Given the description of an element on the screen output the (x, y) to click on. 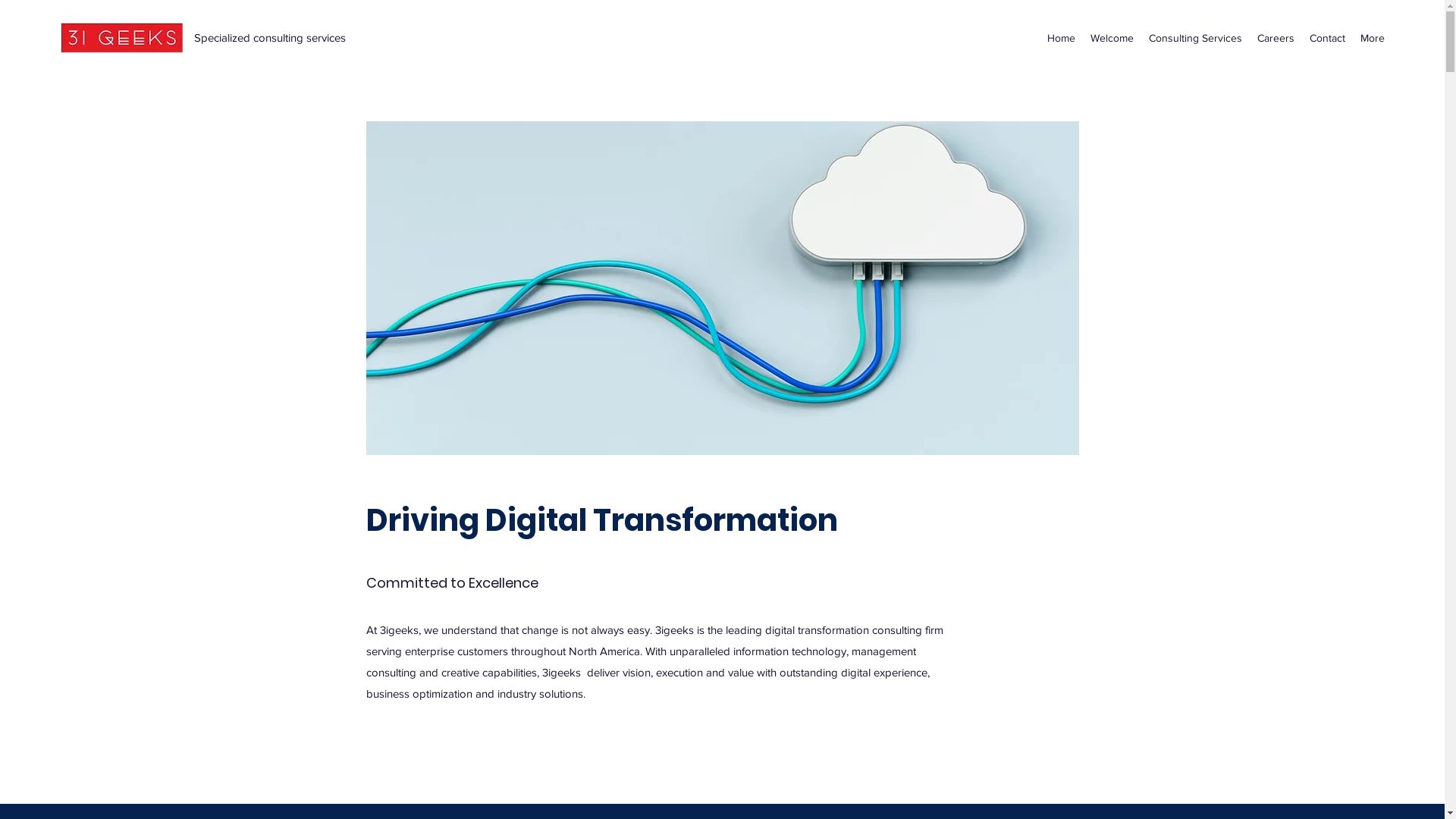
Careers Element type: text (1275, 37)
Welcome Element type: text (1111, 37)
Contact Element type: text (1327, 37)
Consulting Services Element type: text (1195, 37)
Home Element type: text (1060, 37)
